Given the description of an element on the screen output the (x, y) to click on. 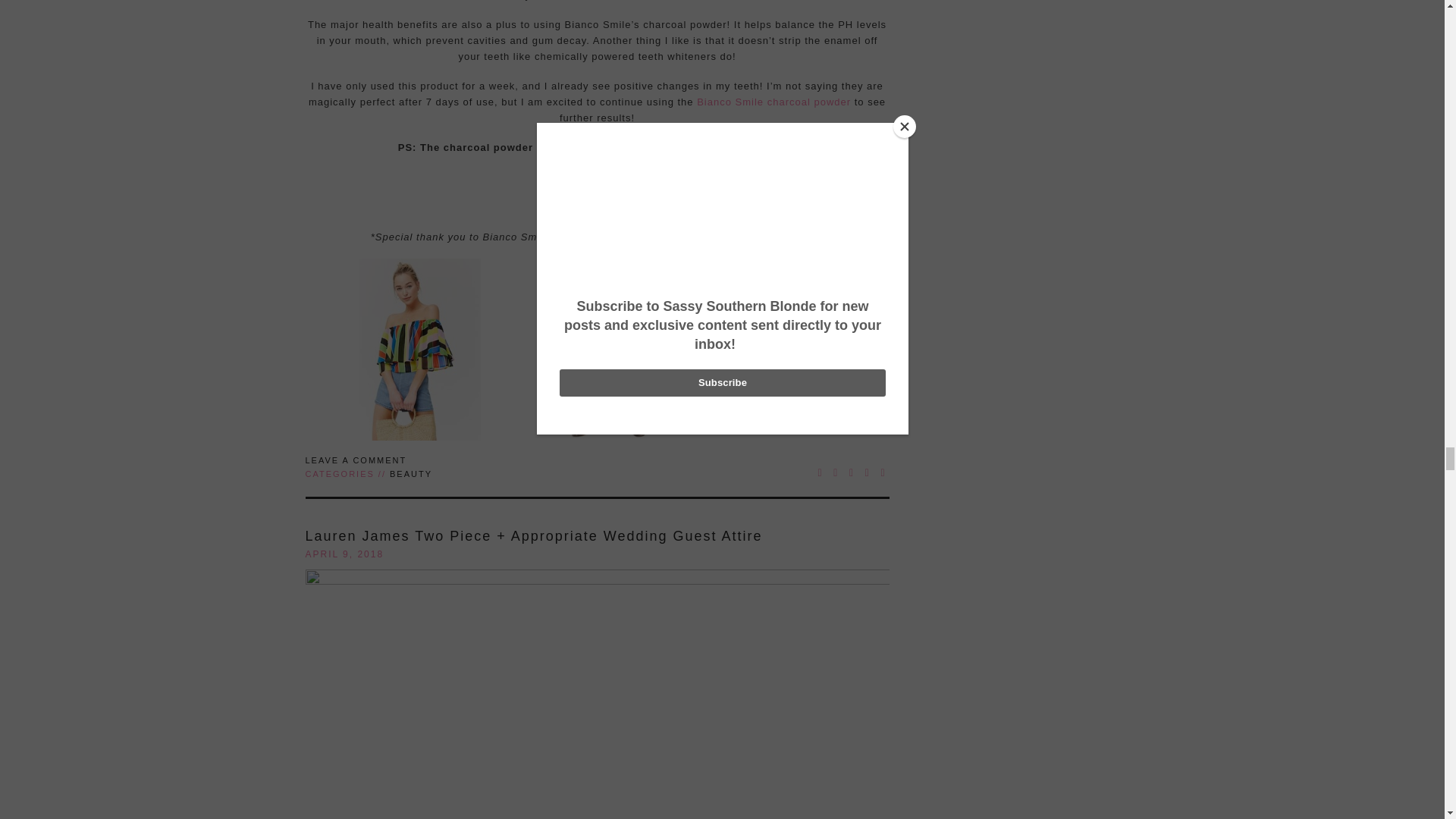
Share this post on Twitter! (835, 472)
